Given the description of an element on the screen output the (x, y) to click on. 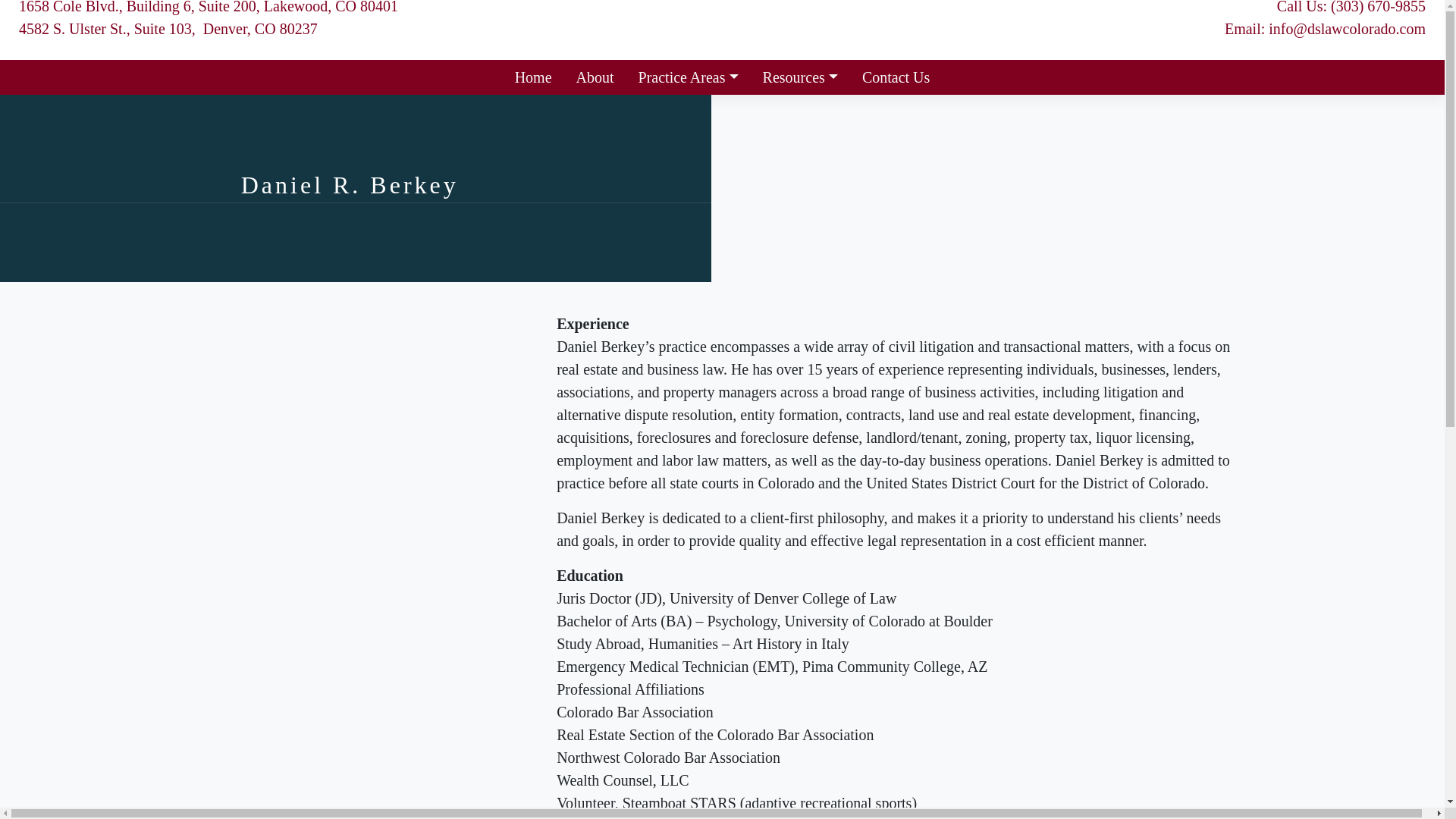
Resources (800, 77)
Home (533, 77)
About (595, 77)
Contact Us (896, 77)
Resources (800, 77)
Home (533, 77)
Practice Areas (688, 77)
About (595, 77)
Practice Areas (688, 77)
